Given the description of an element on the screen output the (x, y) to click on. 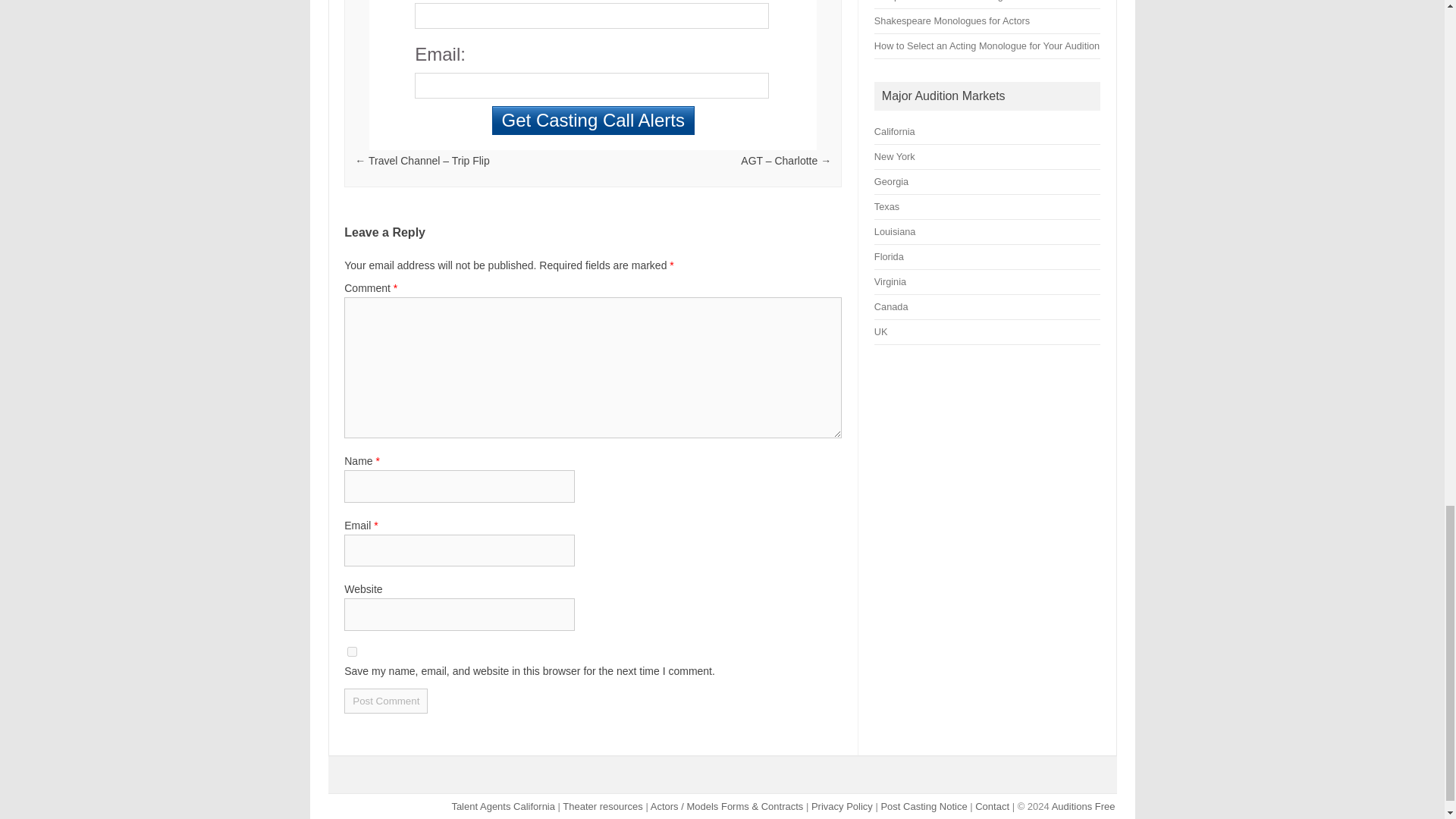
Post Comment (385, 700)
Get Casting Call Alerts (593, 120)
yes (351, 651)
Post Comment (385, 700)
Get Casting Call Alerts (593, 120)
